Given the description of an element on the screen output the (x, y) to click on. 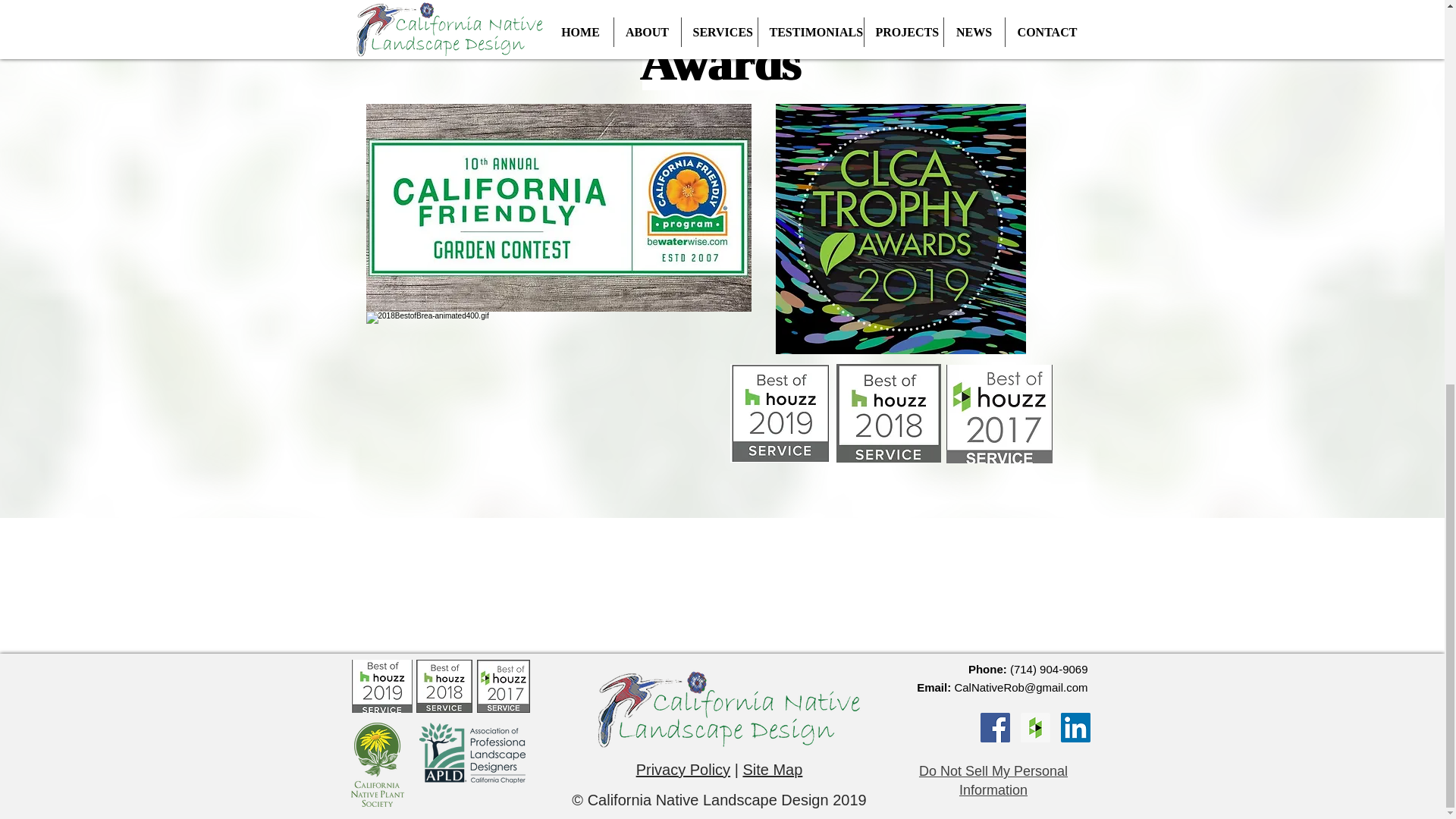
Do Not Sell My Personal Information (993, 781)
Privacy Policy (683, 769)
Site Map (772, 769)
